Given the description of an element on the screen output the (x, y) to click on. 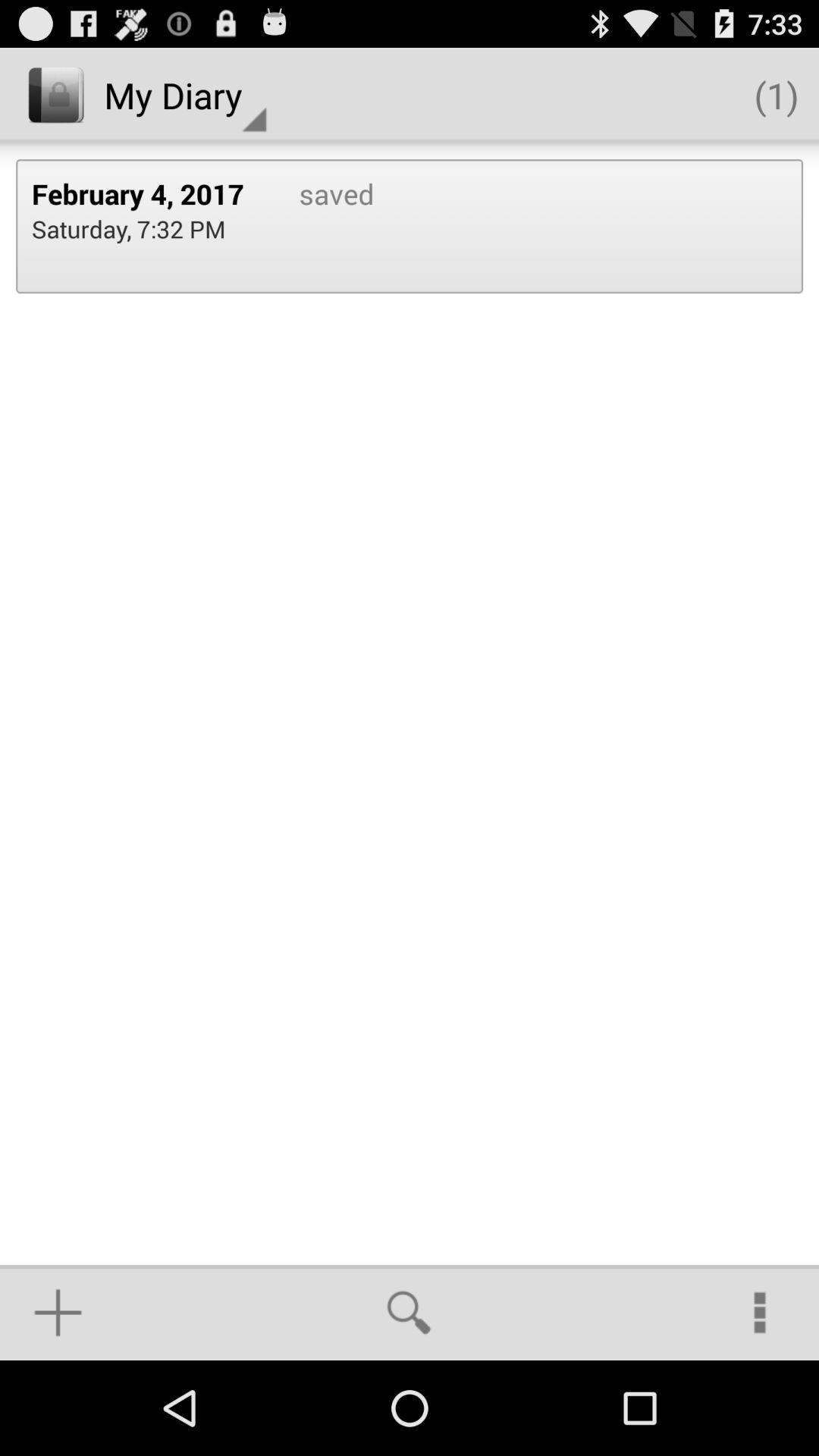
choose item at the bottom (408, 1312)
